Given the description of an element on the screen output the (x, y) to click on. 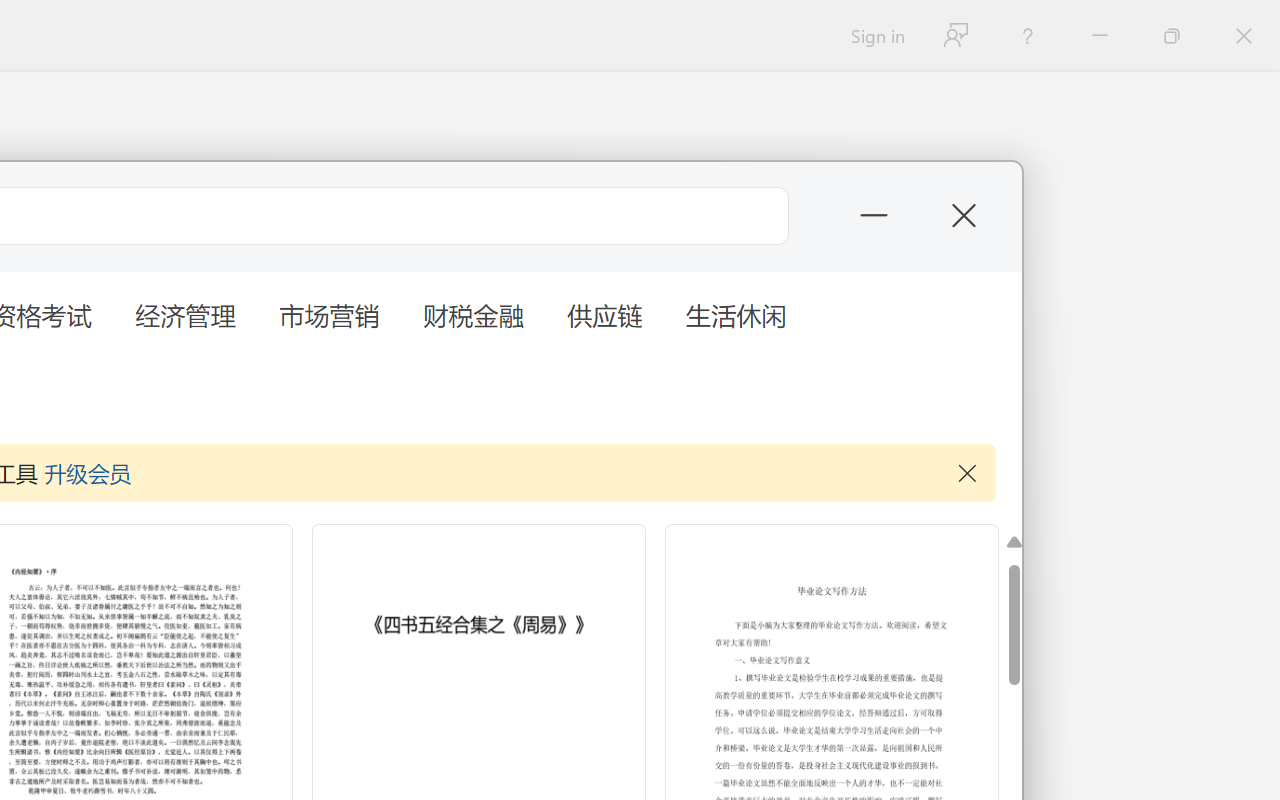
Sign in (875, 35)
